Given the description of an element on the screen output the (x, y) to click on. 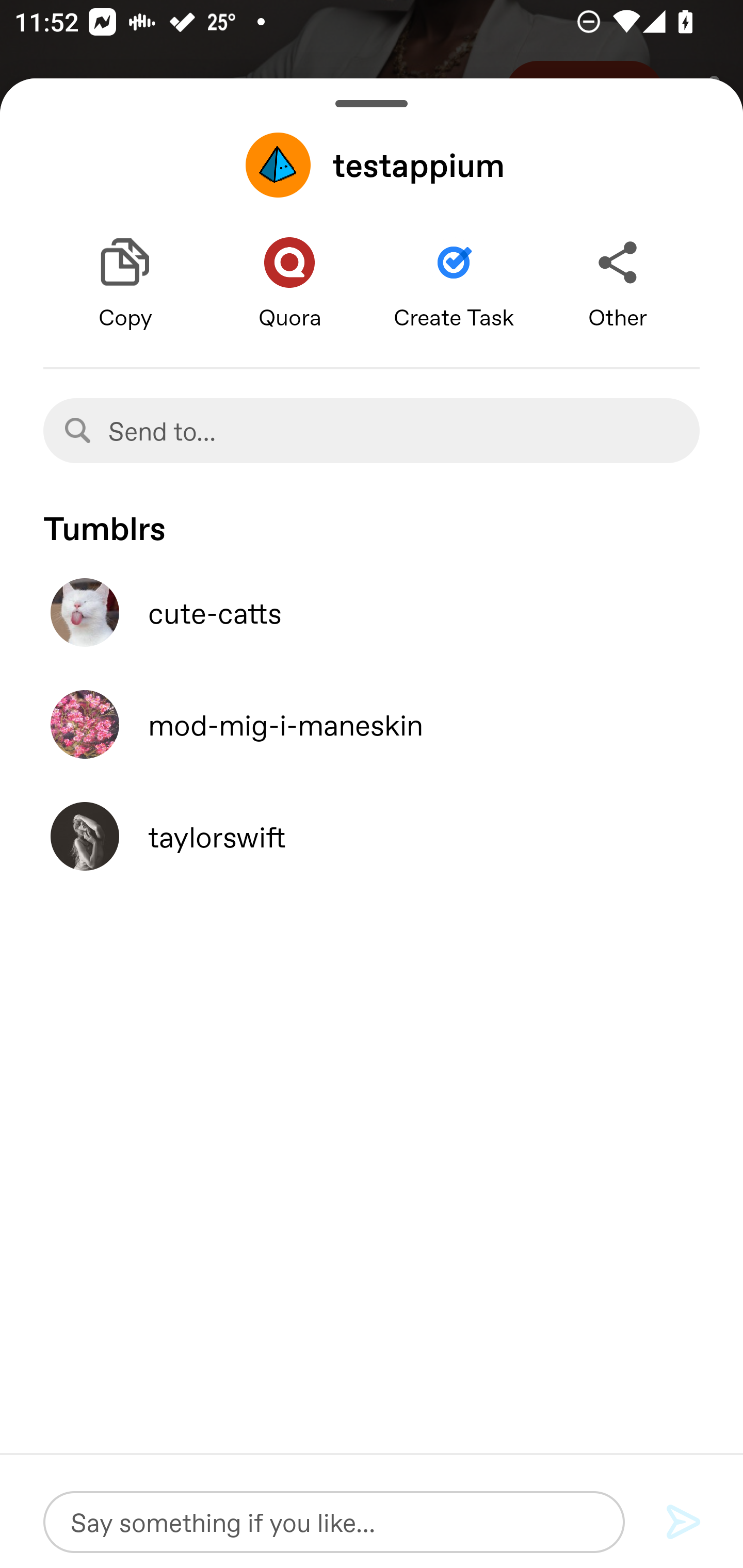
testappium (371, 164)
Copy (125, 284)
Quora (289, 284)
Create Task (453, 284)
Other (617, 284)
Send to… (371, 430)
Tumblrs (371, 518)
cute-catts (371, 611)
mod-mig-i-maneskin (371, 723)
taylorswift (371, 836)
Send (683, 1522)
Say something if you like… (333, 1521)
